Given the description of an element on the screen output the (x, y) to click on. 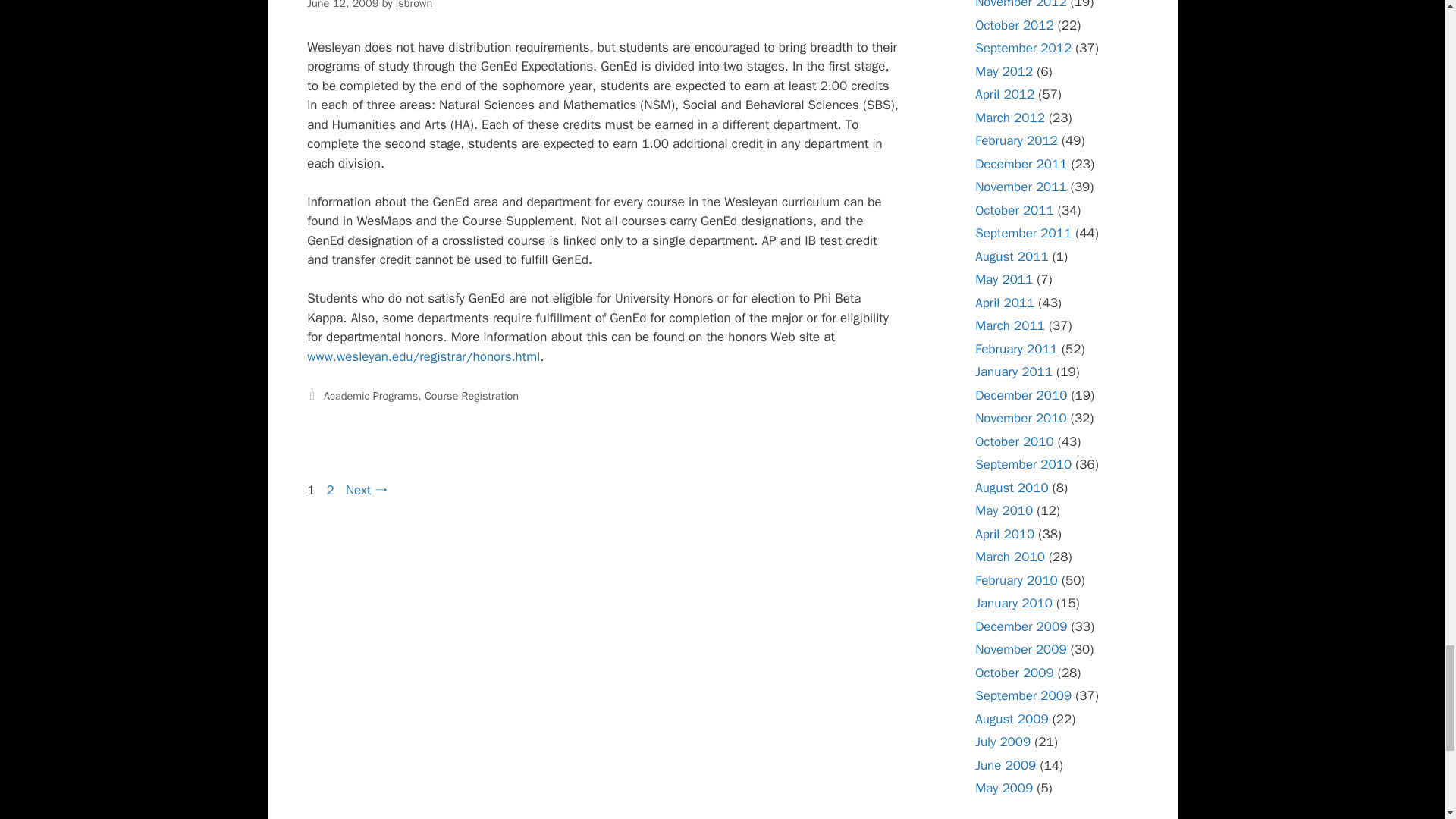
View all posts by lsbrown (414, 4)
